Given the description of an element on the screen output the (x, y) to click on. 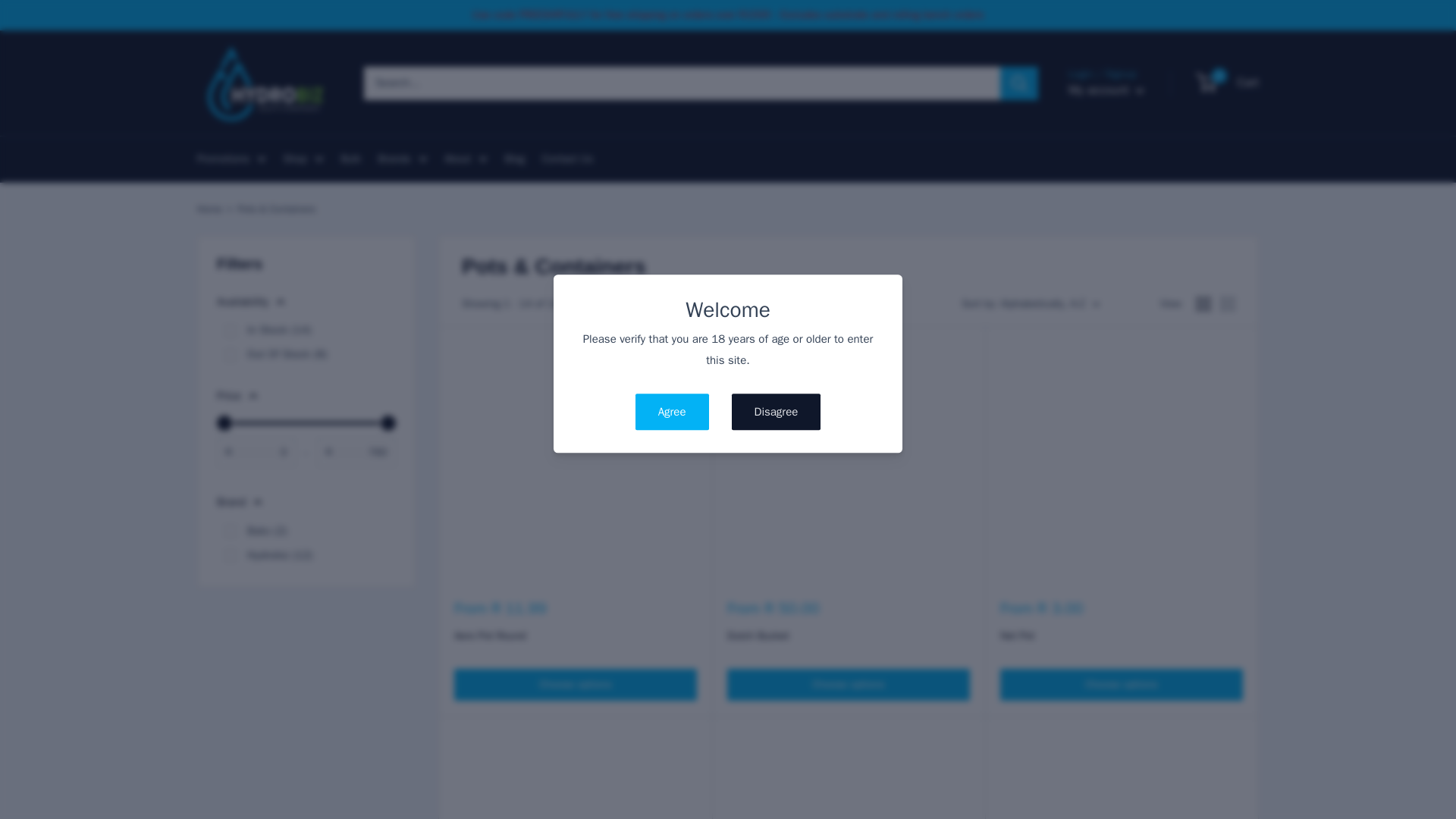
1 (229, 330)
760 (306, 423)
Bato (229, 530)
Hydrobiz (229, 554)
Disagree (776, 411)
0 (229, 354)
0 (306, 423)
Agree (671, 411)
